Given the description of an element on the screen output the (x, y) to click on. 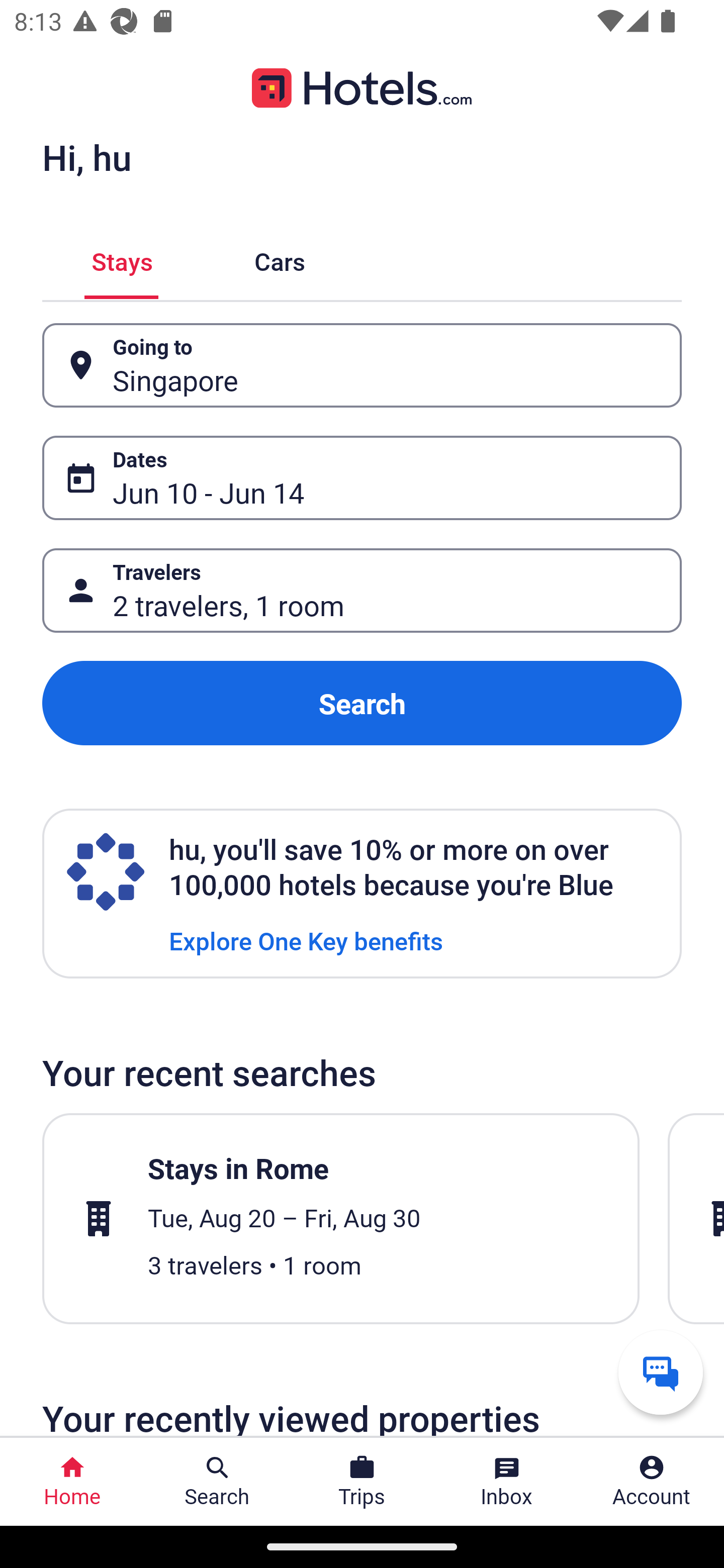
Hi, hu (86, 156)
Cars (279, 259)
Going to Button Singapore (361, 365)
Dates Button Jun 10 - Jun 14 (361, 477)
Travelers Button 2 travelers, 1 room (361, 590)
Search (361, 702)
Get help from a virtual agent (660, 1371)
Search Search Button (216, 1481)
Trips Trips Button (361, 1481)
Inbox Inbox Button (506, 1481)
Account Profile. Button (651, 1481)
